Given the description of an element on the screen output the (x, y) to click on. 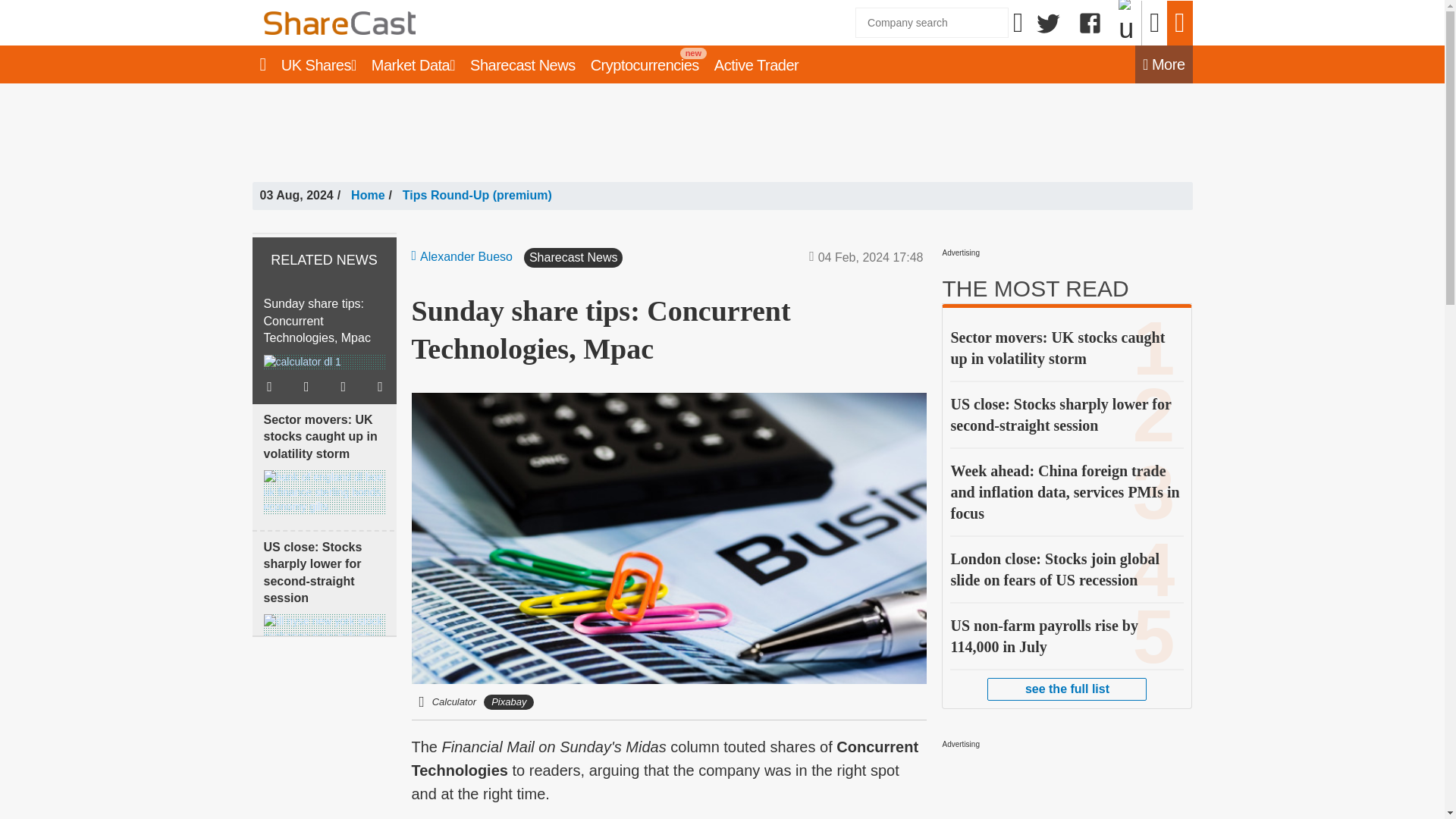
Sharecast (486, 22)
calculator dl 1 (301, 362)
